Given the description of an element on the screen output the (x, y) to click on. 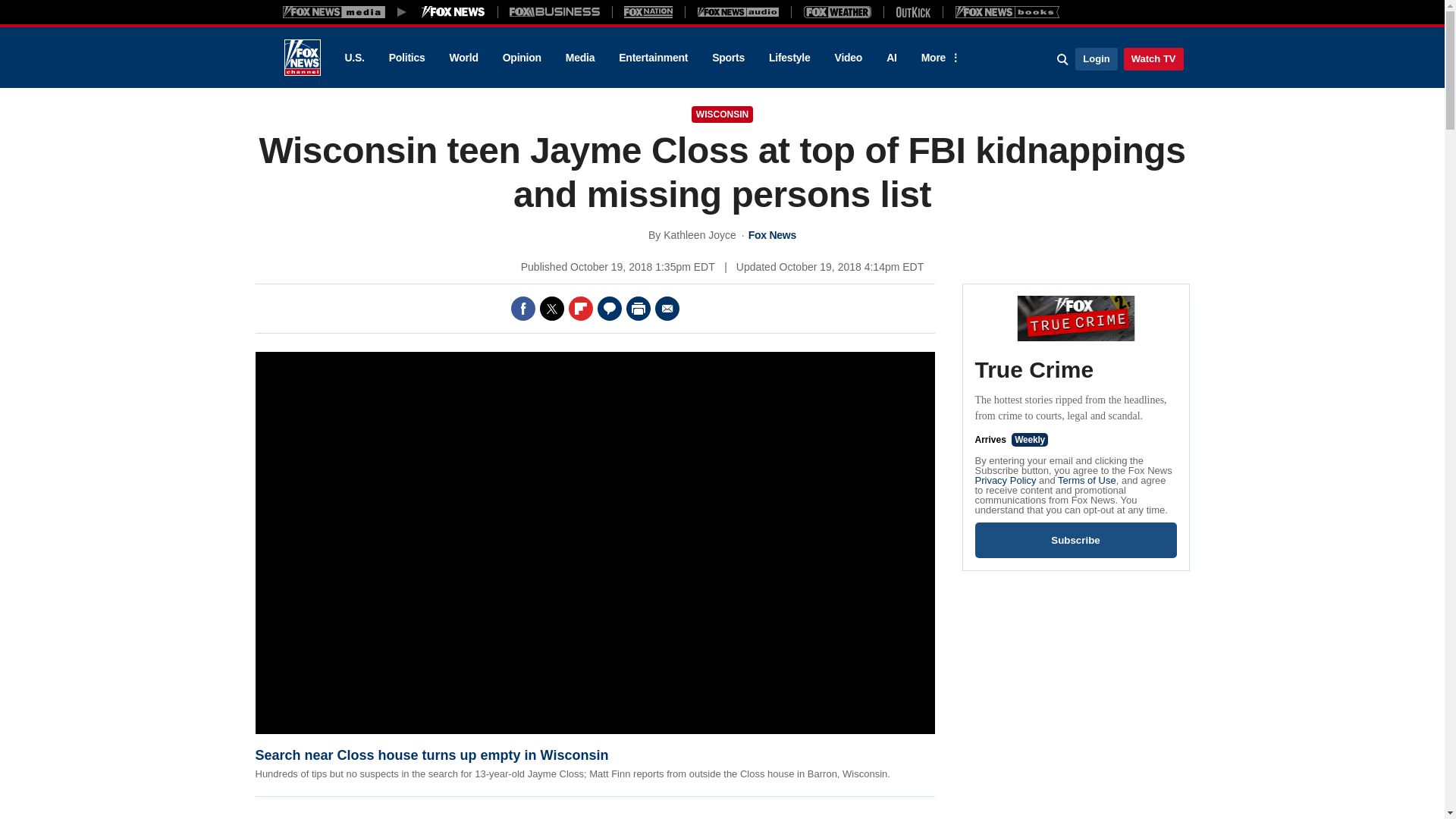
Media (580, 57)
Video (848, 57)
Politics (407, 57)
U.S. (353, 57)
Lifestyle (789, 57)
Fox News Audio (737, 11)
World (464, 57)
Login (1095, 58)
Opinion (521, 57)
Fox Business (554, 11)
